Given the description of an element on the screen output the (x, y) to click on. 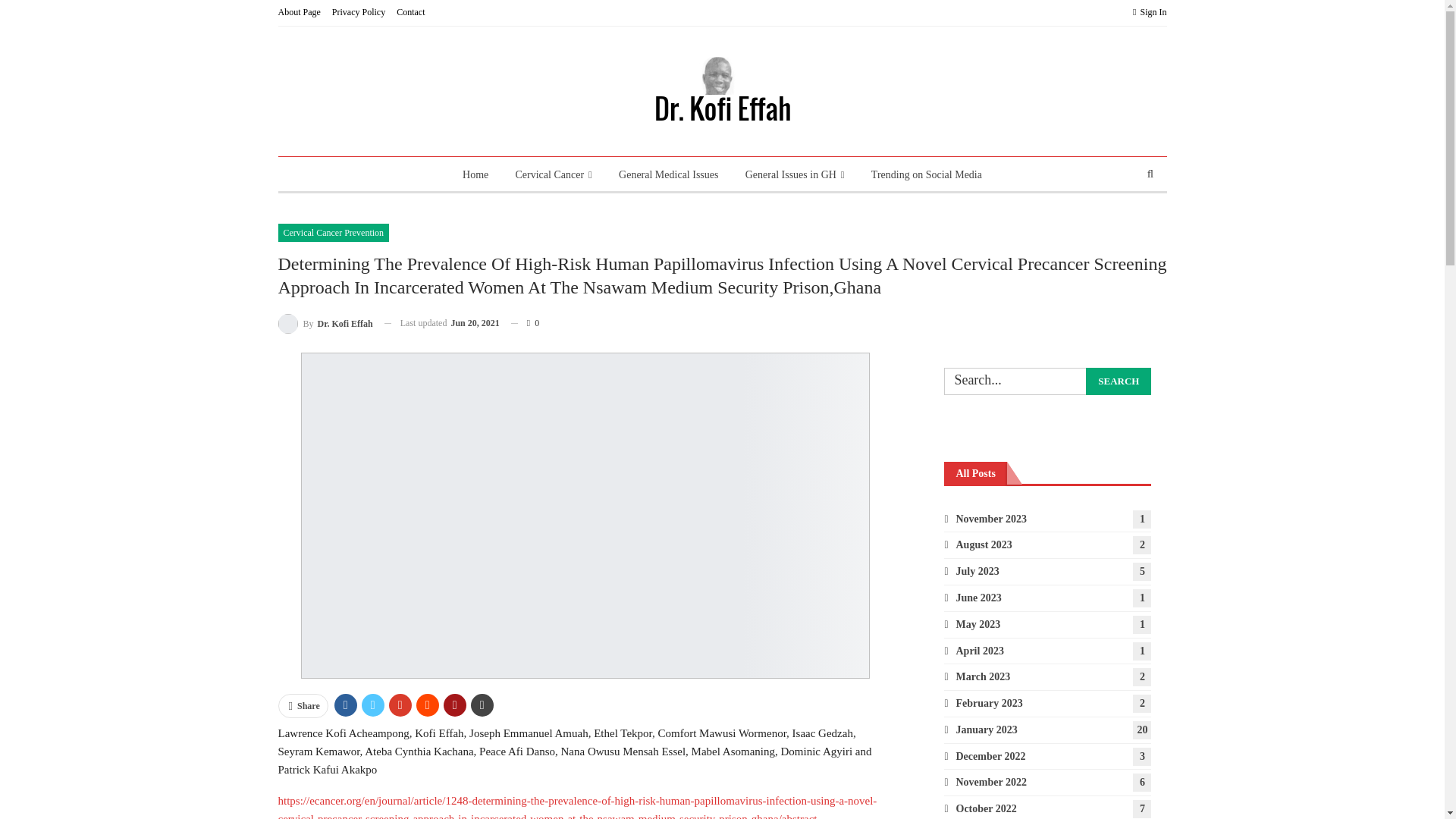
About Page (299, 11)
Contact (410, 11)
Sign In (1149, 12)
Cervical Cancer Prevention (333, 232)
Trending on Social Media (926, 175)
Search (1118, 380)
0 (524, 322)
Browse Author Articles (325, 322)
Search (1118, 380)
Home (474, 175)
General Medical Issues (668, 175)
Privacy Policy (358, 11)
General Issues in GH (794, 175)
Cervical Cancer (553, 175)
By Dr. Kofi Effah (325, 322)
